Given the description of an element on the screen output the (x, y) to click on. 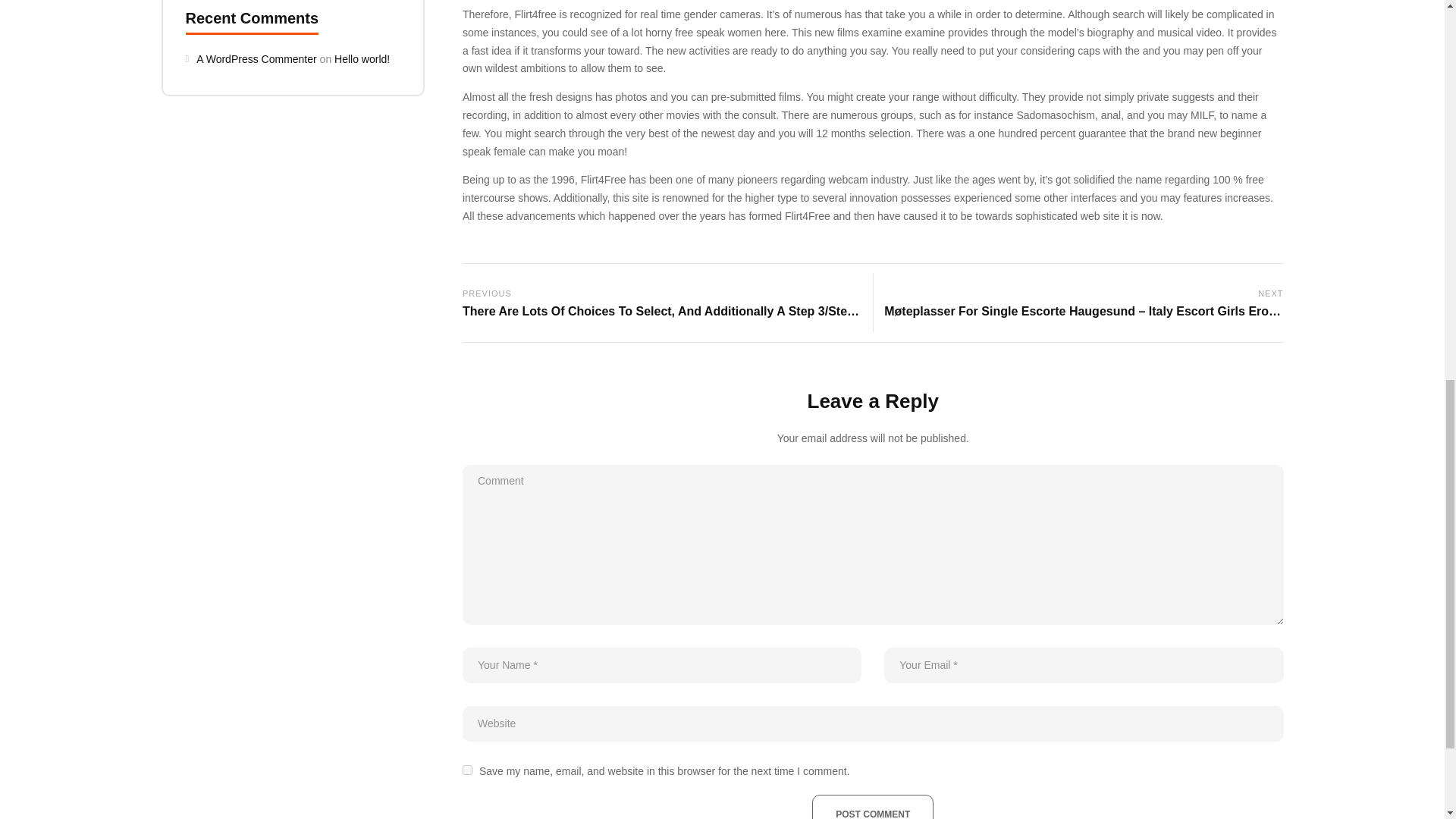
Post Comment (872, 806)
yes (467, 769)
Post Comment (872, 806)
A WordPress Commenter (255, 59)
Hello world! (362, 59)
